Given the description of an element on the screen output the (x, y) to click on. 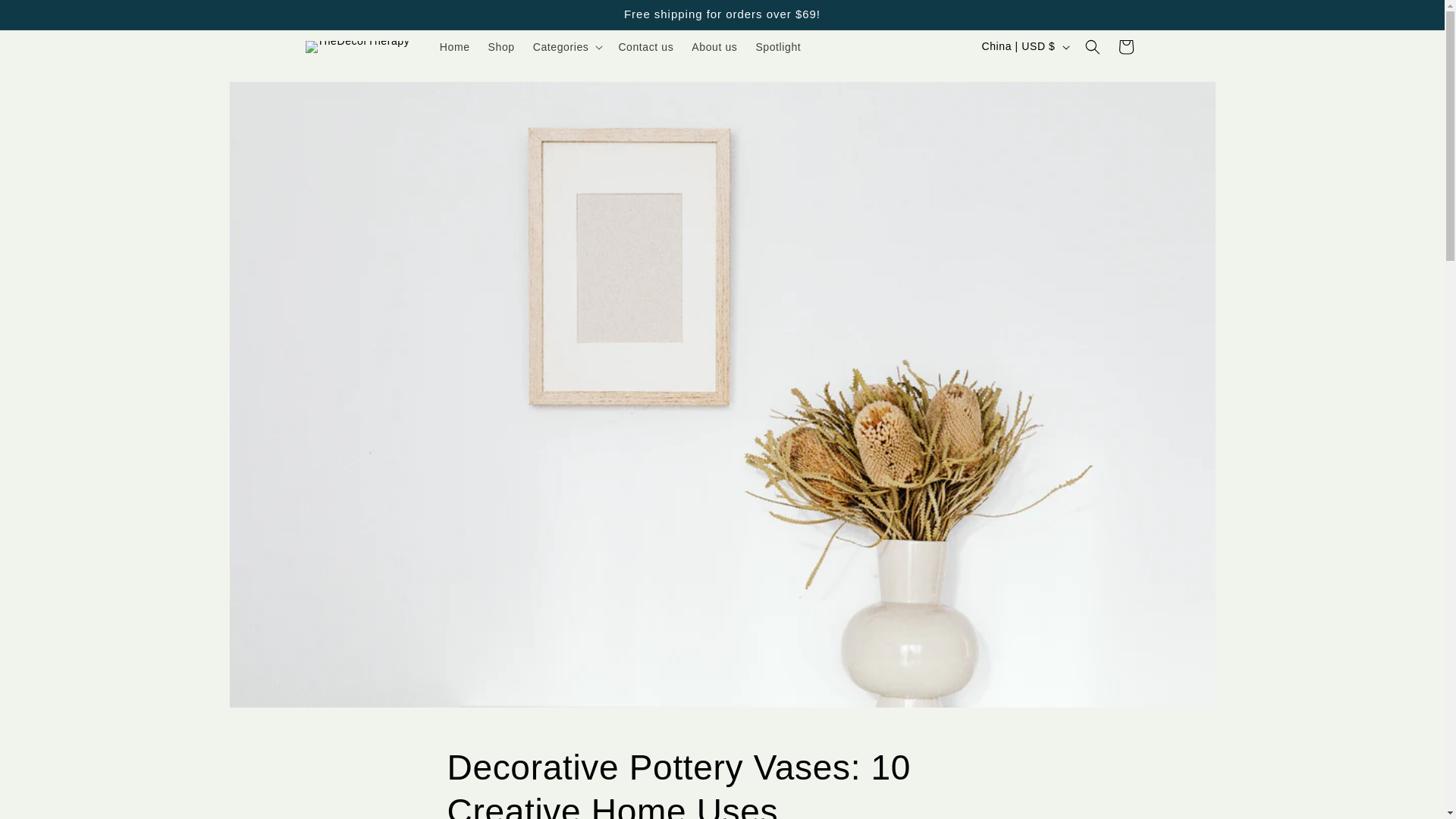
About us (713, 47)
Shop (501, 47)
Contact us (645, 47)
Home (454, 47)
Skip to content (45, 17)
Spotlight (777, 47)
